Given the description of an element on the screen output the (x, y) to click on. 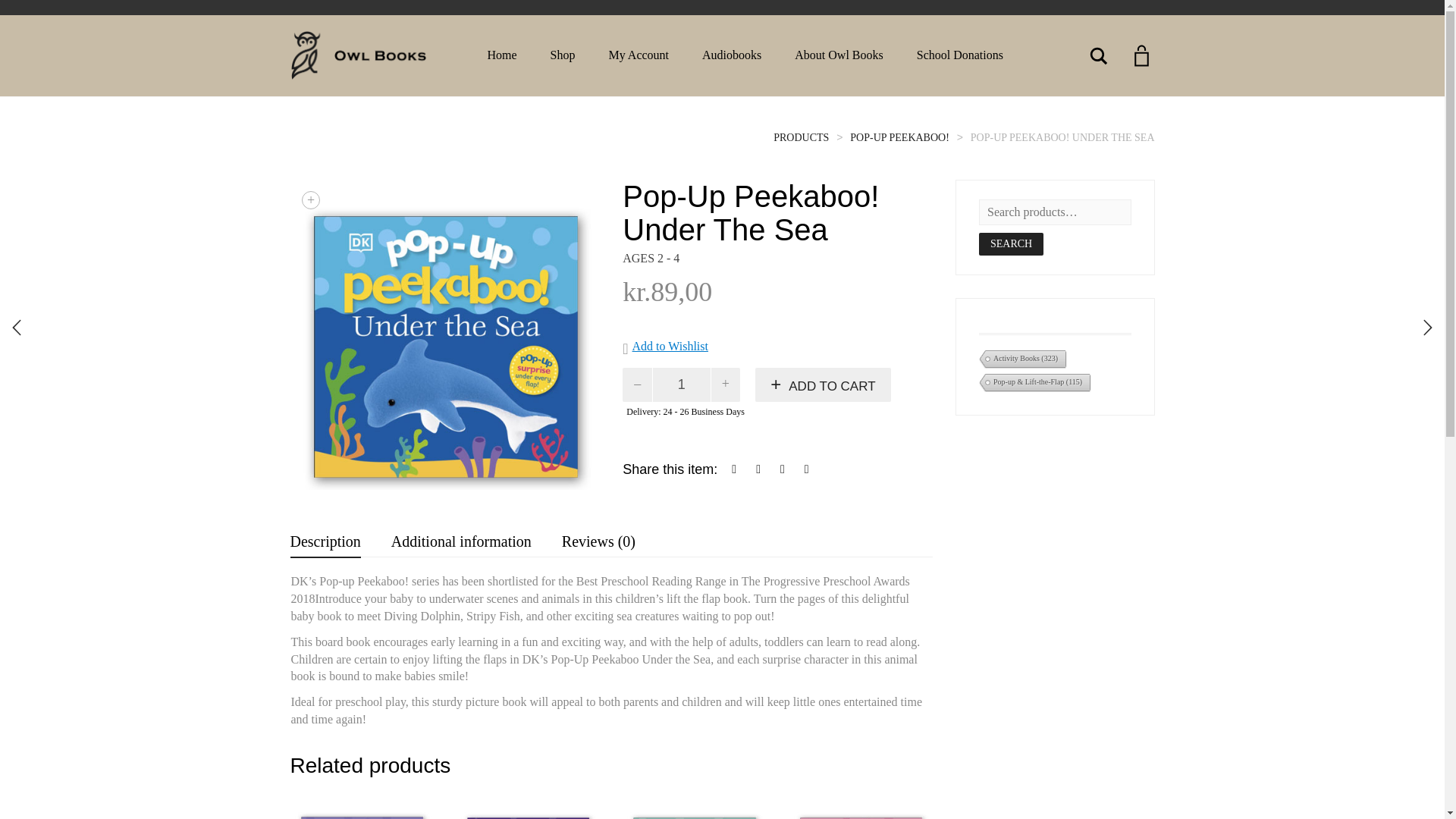
Shop (563, 55)
View full size (310, 199)
1 (681, 384)
Go to Products. (800, 137)
Go to the Pop-Up Peekaboo! Series archives. (899, 137)
image (444, 334)
Home (501, 55)
